Given the description of an element on the screen output the (x, y) to click on. 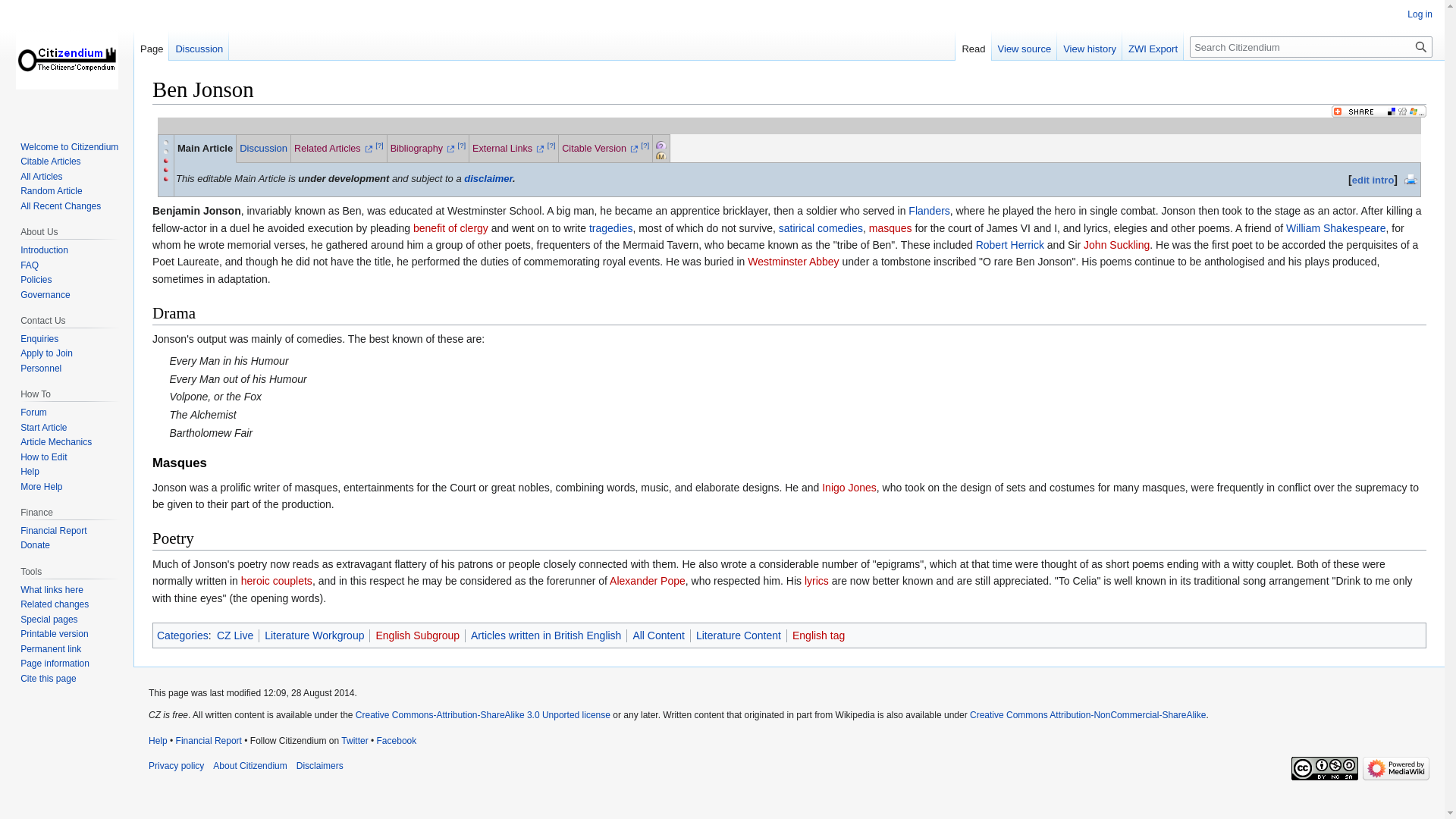
benefit of clergy (450, 227)
Related Articles (333, 148)
tragedies (611, 227)
Robert Herrick (1009, 244)
Flanders (928, 210)
External Links (507, 148)
Citable Version (600, 148)
comedies (839, 227)
Categories (182, 635)
satirical (795, 227)
